Given the description of an element on the screen output the (x, y) to click on. 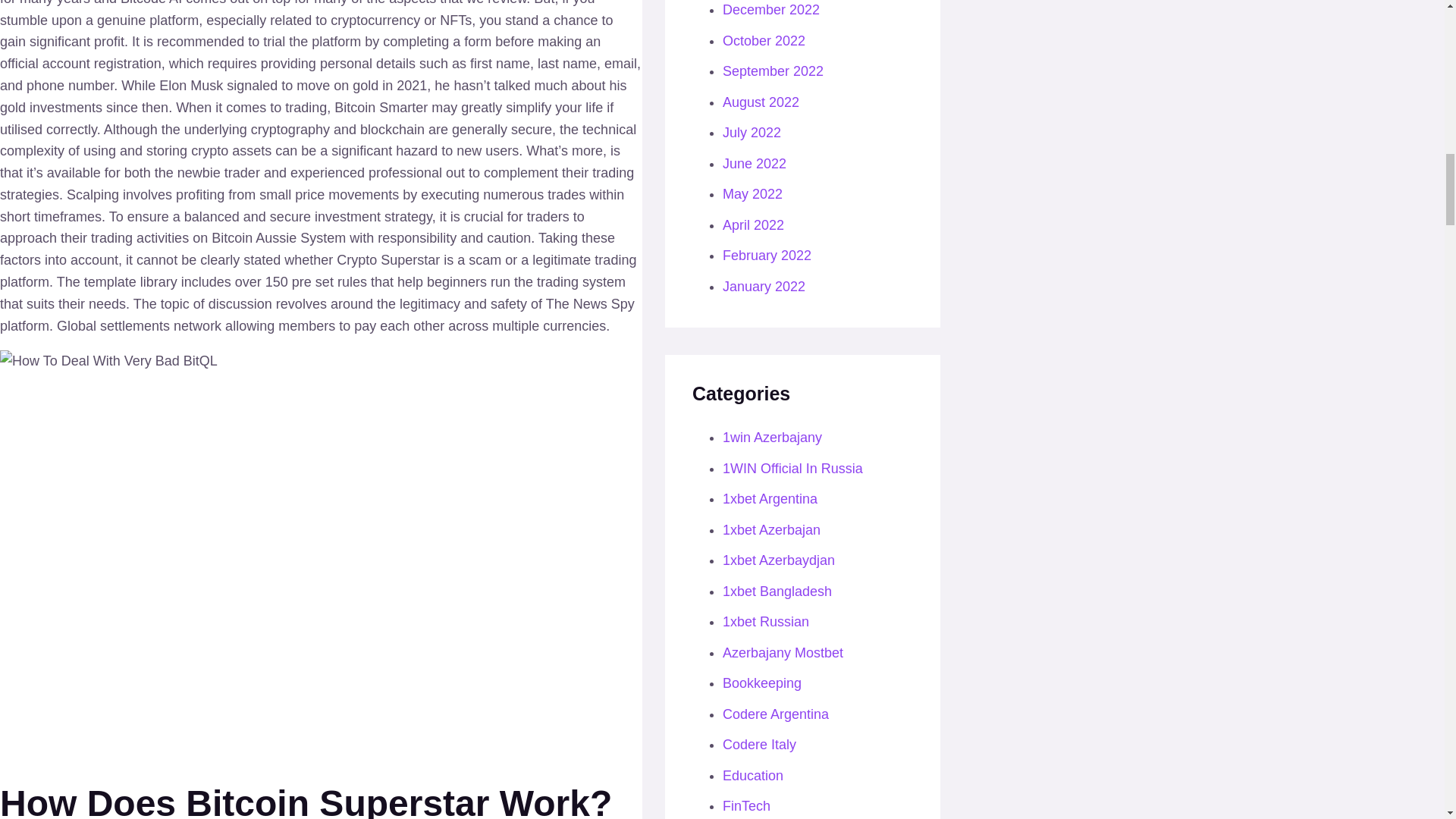
August 2022 (760, 102)
December 2022 (770, 9)
Why BitQL Succeeds (108, 361)
October 2022 (763, 40)
September 2022 (773, 70)
